Given the description of an element on the screen output the (x, y) to click on. 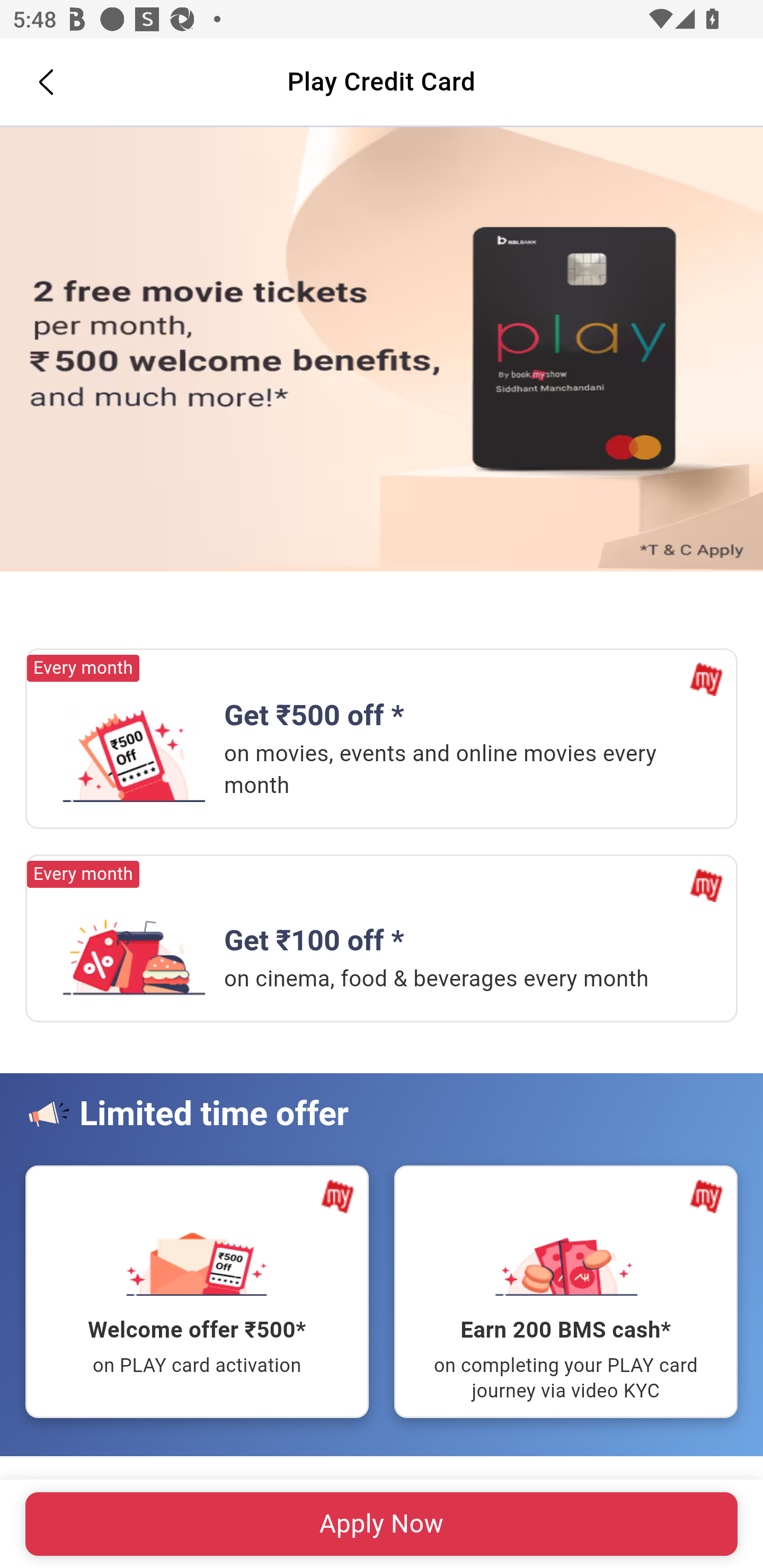
Apply Now (381, 349)
BookMyShow (706, 679)
Get ₹500 off * (133, 753)
BookMyShow (706, 885)
Get ₹100 off * (133, 947)
BookMyShow (337, 1196)
BookMyShow (706, 1196)
Apply Now (381, 1523)
